Given the description of an element on the screen output the (x, y) to click on. 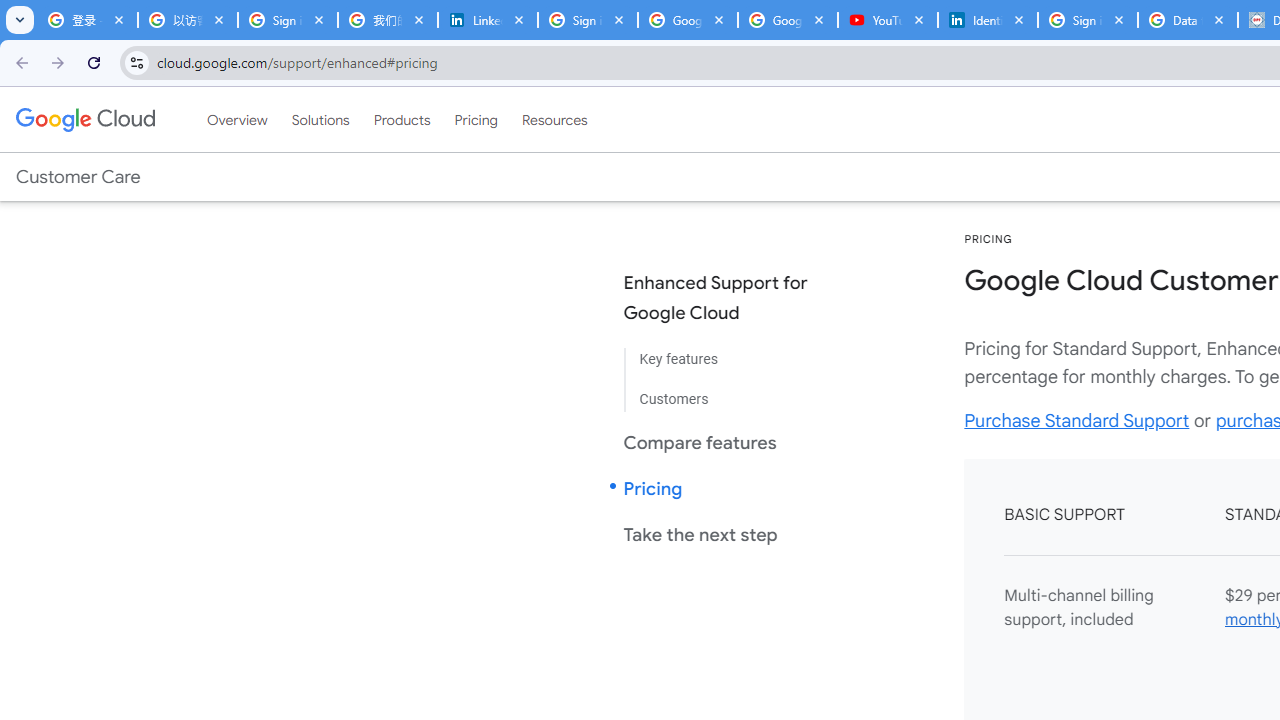
Products (401, 119)
Identity verification via Persona | LinkedIn Help (988, 20)
Key features (732, 359)
LinkedIn Privacy Policy (487, 20)
Solutions (320, 119)
Pricing (476, 119)
Overview (236, 119)
